Given the description of an element on the screen output the (x, y) to click on. 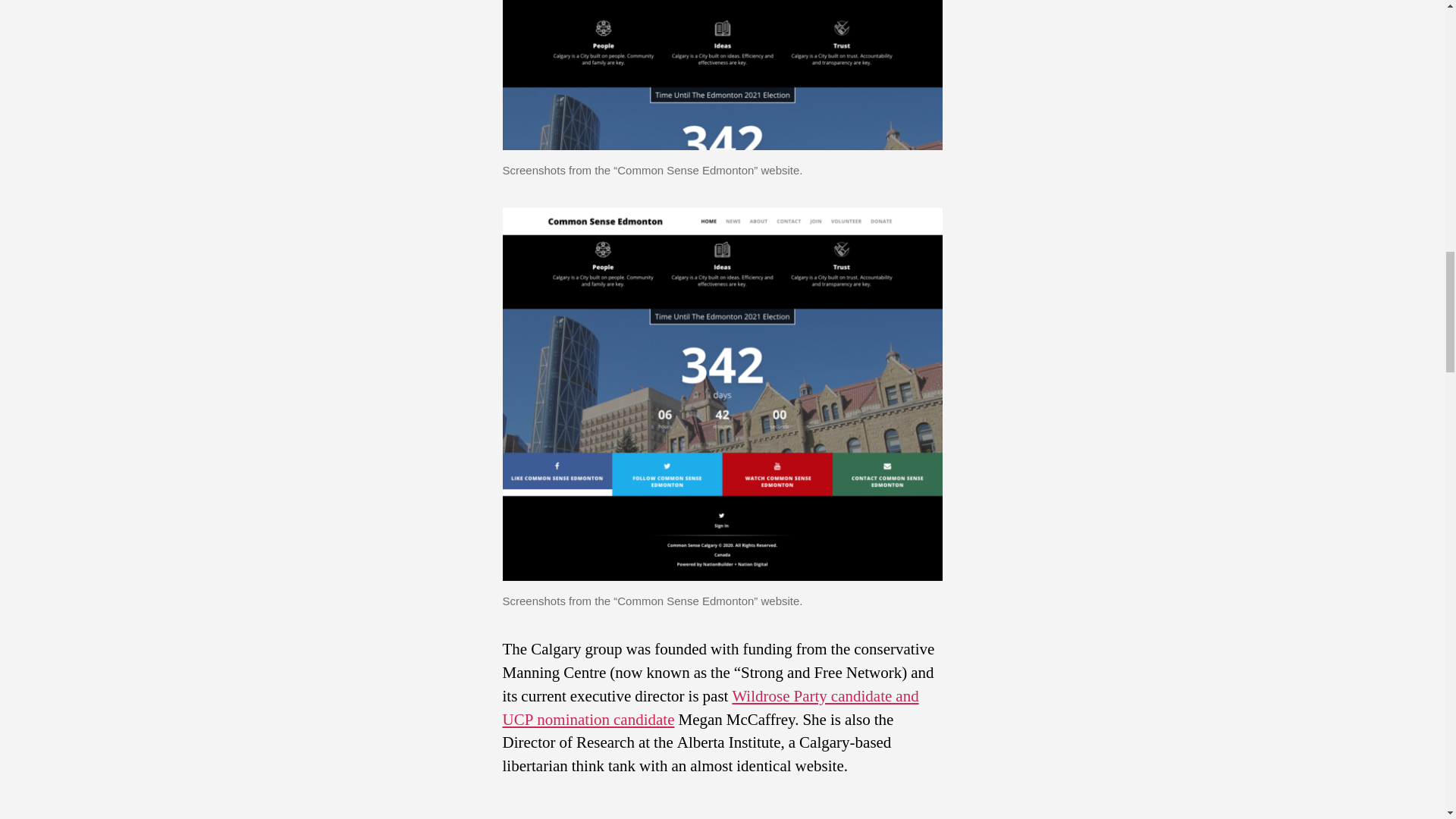
Wildrose Party candidate and UCP nomination candidate (710, 708)
